Given the description of an element on the screen output the (x, y) to click on. 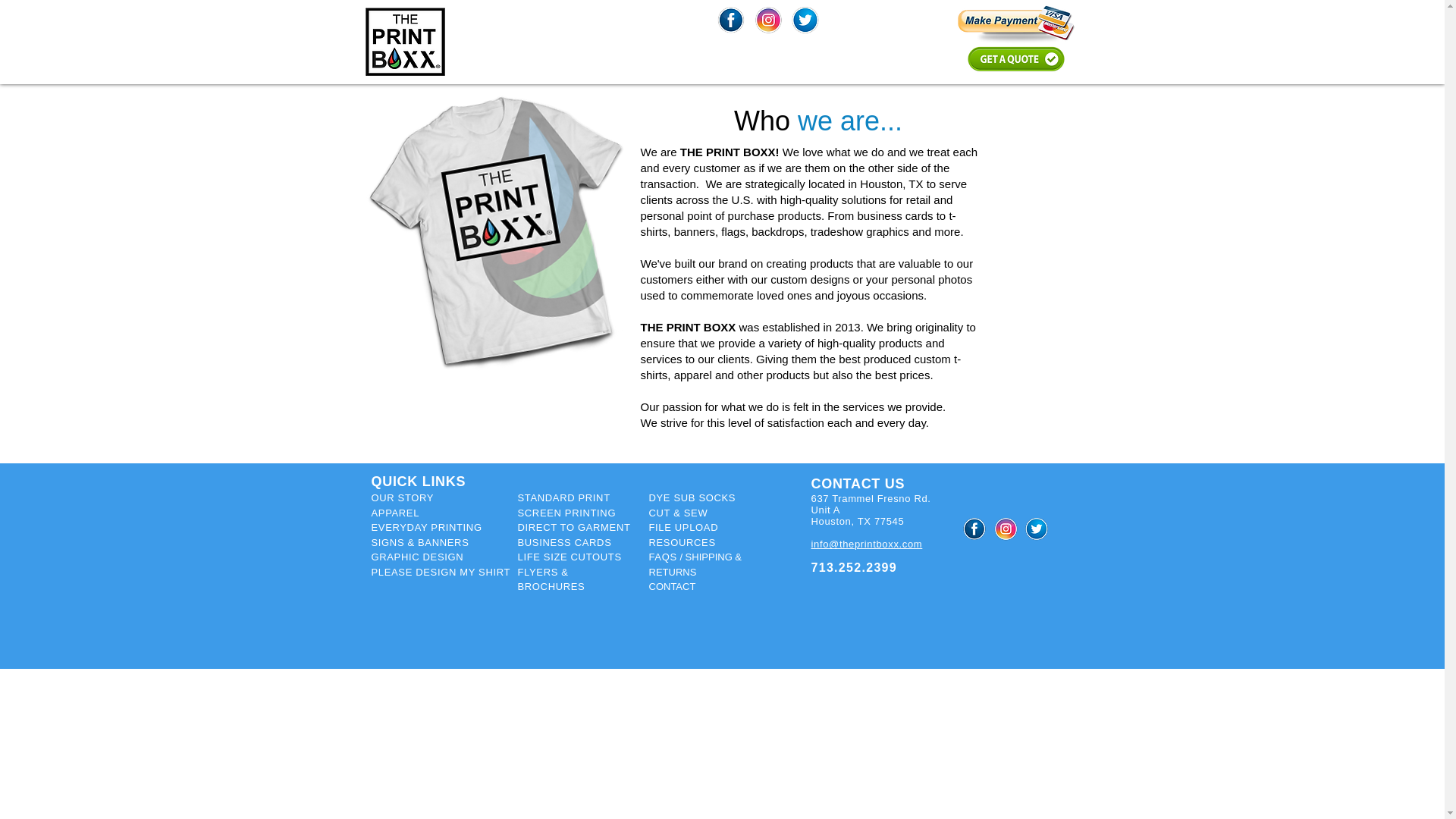
OUR STORY (402, 497)
CONTACT (672, 586)
PLEASE DESIGN MY SHIRT (441, 572)
APPAREL (395, 512)
STANDARD PRINT (563, 497)
GRAPHIC DESIGN (417, 556)
DIRECT TO GARMENT (573, 527)
EVERYDAY PRINTING (426, 527)
RESOURCES (682, 542)
FILE UPLOAD (684, 527)
LIFE SIZE CUTOUTS (568, 556)
BUSINESS CARDS (563, 542)
713.252.2399 (853, 568)
SCREEN PRINTING (565, 511)
DYE SUB SOCKS (692, 497)
